Given the description of an element on the screen output the (x, y) to click on. 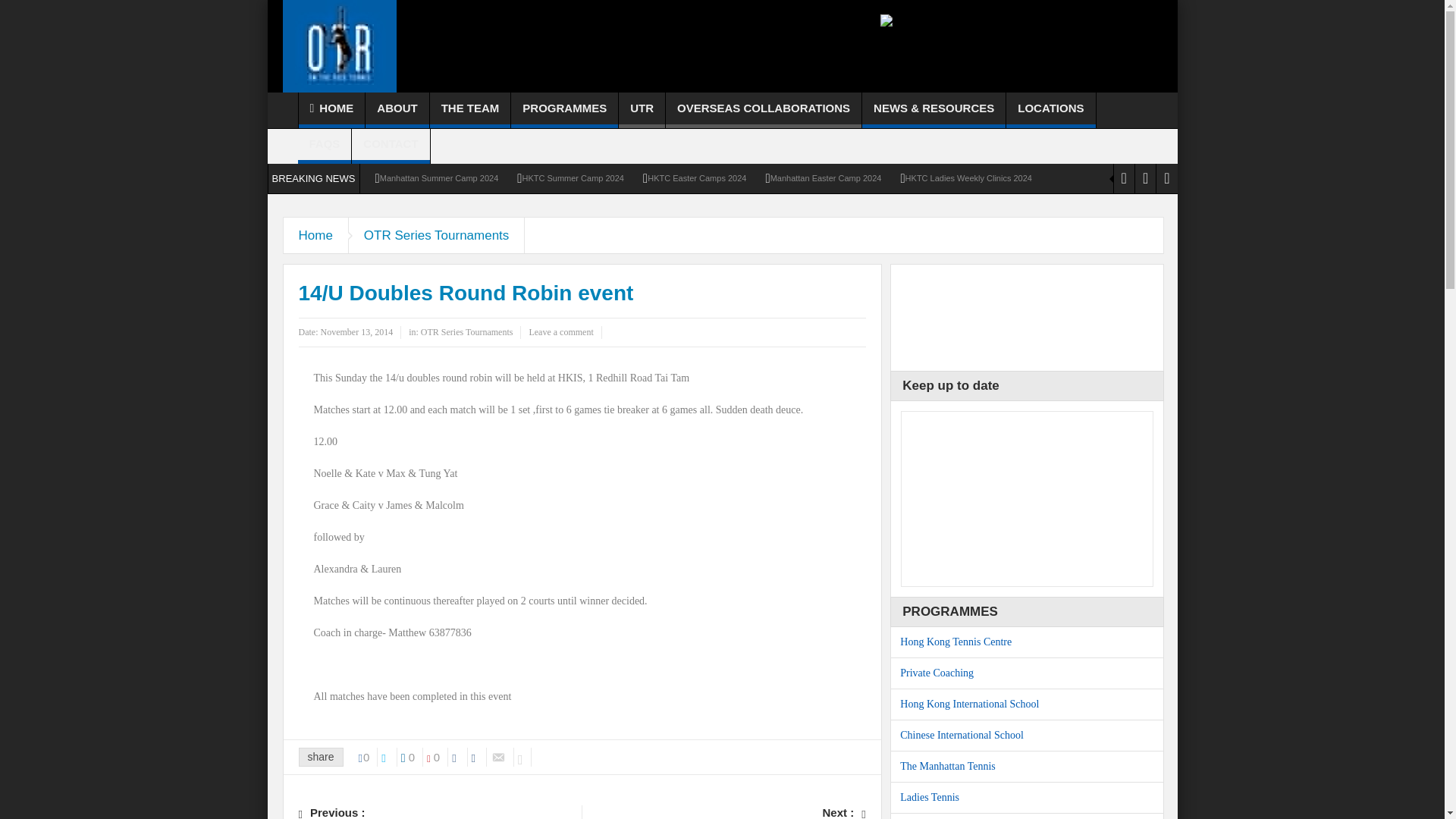
OVERSEAS COLLABORATIONS (763, 109)
OTR Tennis (339, 46)
HOME (331, 109)
THE TEAM (470, 109)
FAQS (323, 145)
UTR (641, 109)
LOCATIONS (1050, 109)
OTR Series Tournaments (436, 235)
CONTACT (390, 145)
ABOUT (396, 109)
